Given the description of an element on the screen output the (x, y) to click on. 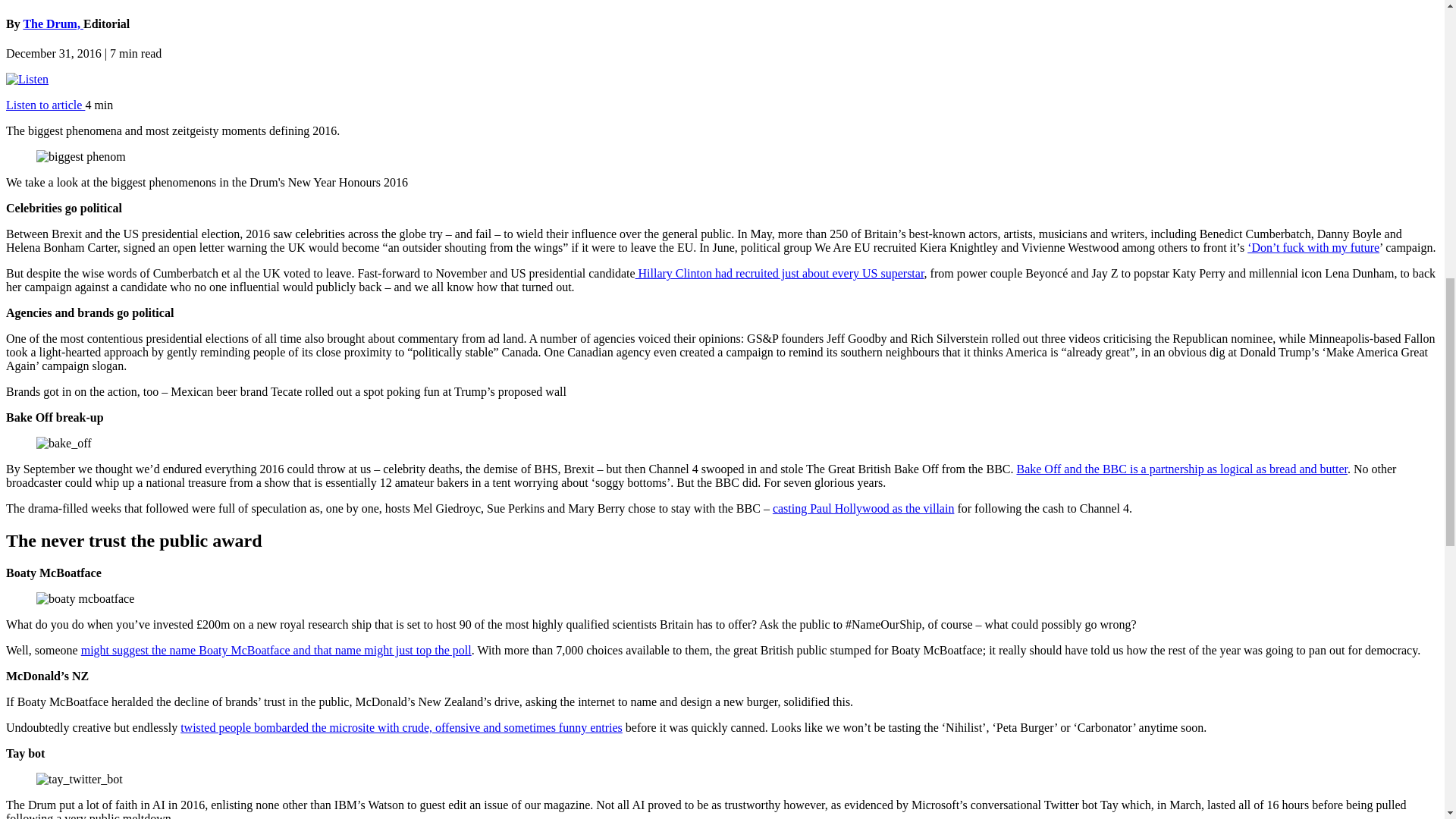
biggest phenom (80, 156)
casting Paul Hollywood as the villain (864, 508)
boaty mcboatface (84, 599)
Listen to article (44, 104)
The Drum, (52, 23)
Hillary Clinton had recruited just about every US superstar (779, 273)
